Given the description of an element on the screen output the (x, y) to click on. 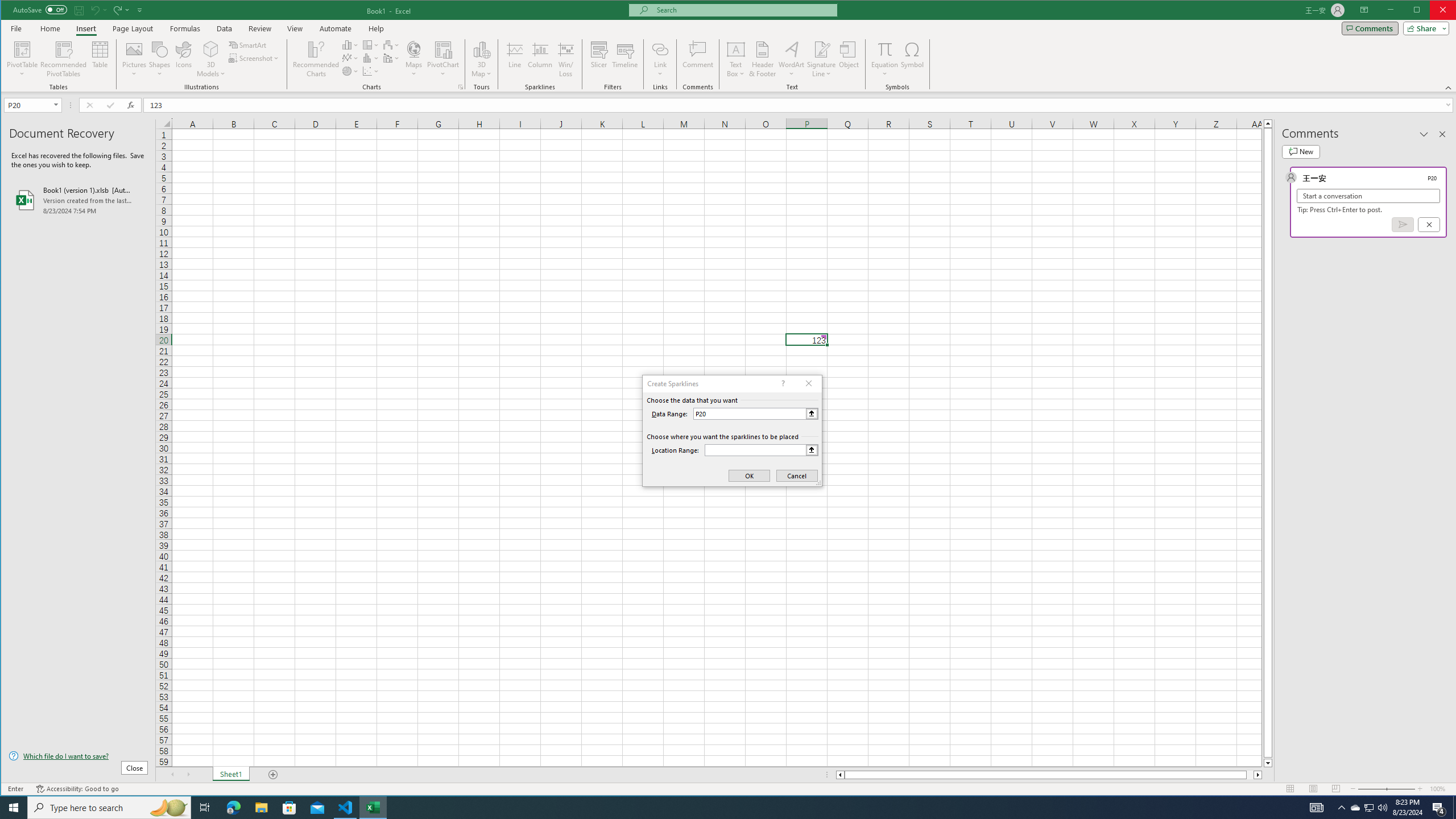
Win/Loss (565, 59)
Equation (884, 48)
3D Models (211, 48)
Shapes (159, 59)
Data (224, 28)
Scroll Left (172, 774)
Insert Scatter (X, Y) or Bubble Chart (371, 70)
Header & Footer... (762, 59)
Class: MsoCommandBar (728, 45)
Link (659, 48)
Insert Statistic Chart (371, 57)
Review (259, 28)
Maximize (1432, 11)
Quick Access Toolbar (79, 9)
